Given the description of an element on the screen output the (x, y) to click on. 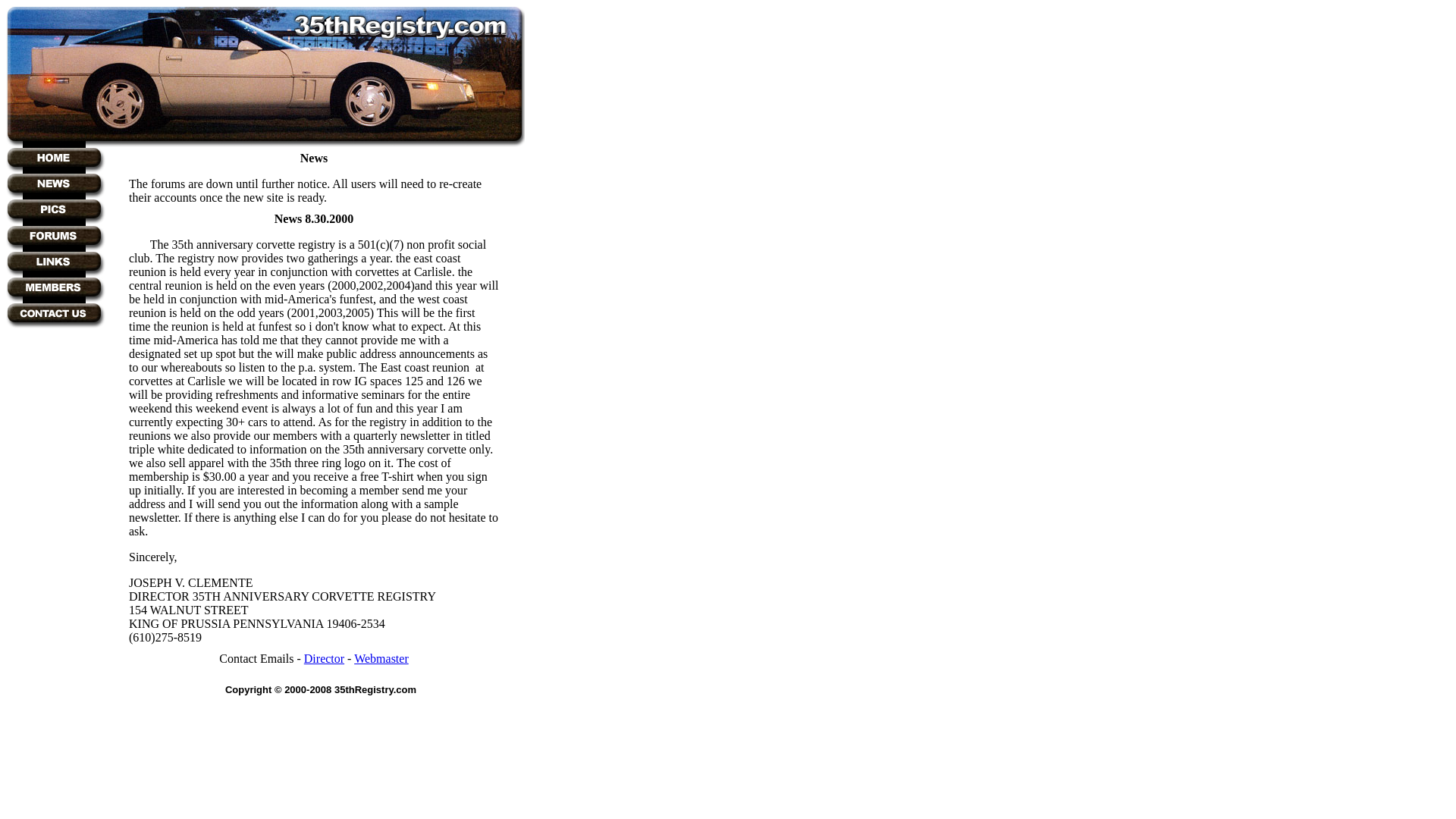
Director Element type: text (324, 658)
Webmaster Element type: text (381, 658)
